Given the description of an element on the screen output the (x, y) to click on. 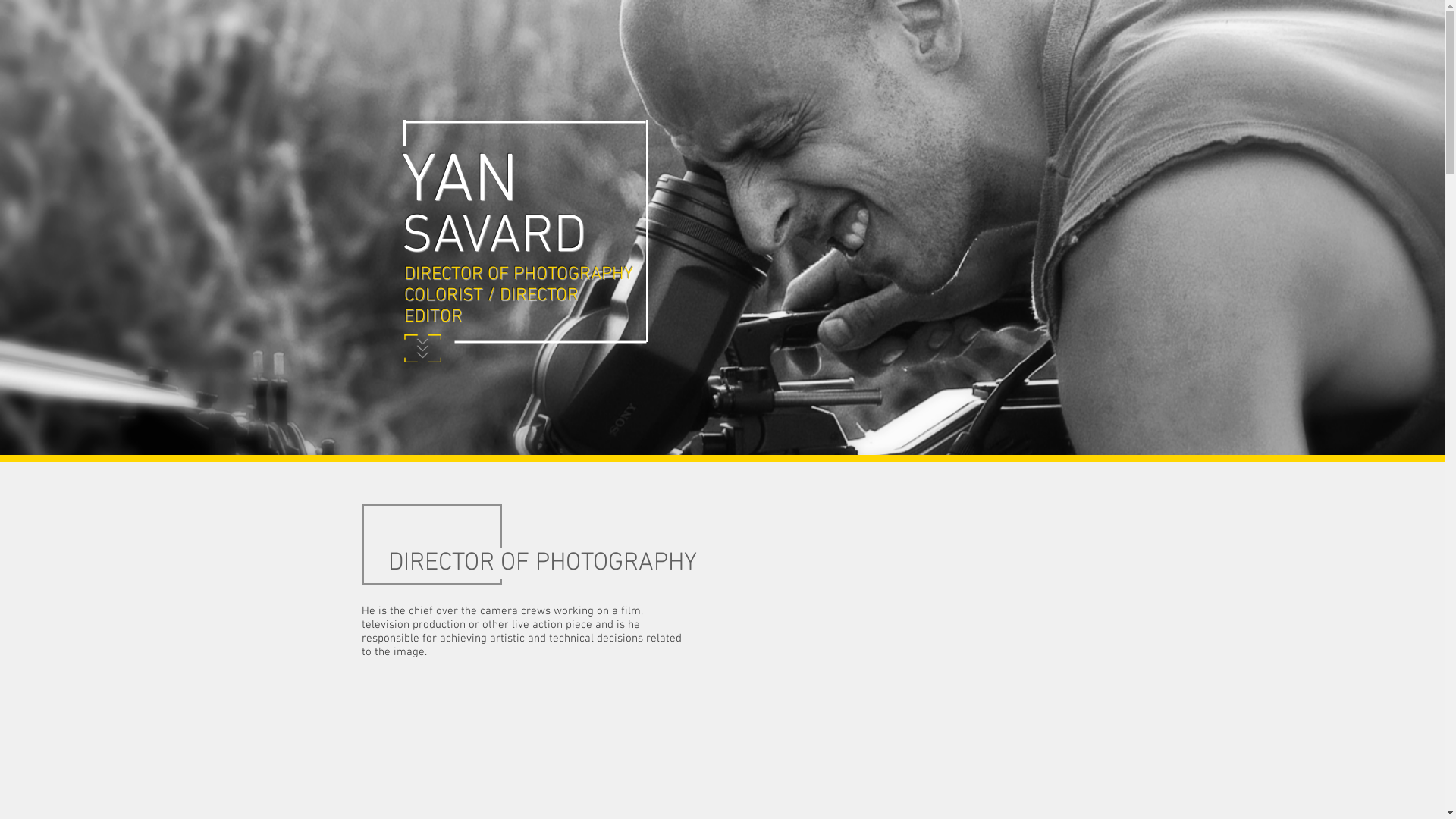
YAN Element type: text (458, 182)
SAVARD Element type: text (492, 237)
External Vimeo Element type: hover (902, 607)
HOME Element type: text (721, 28)
